Given the description of an element on the screen output the (x, y) to click on. 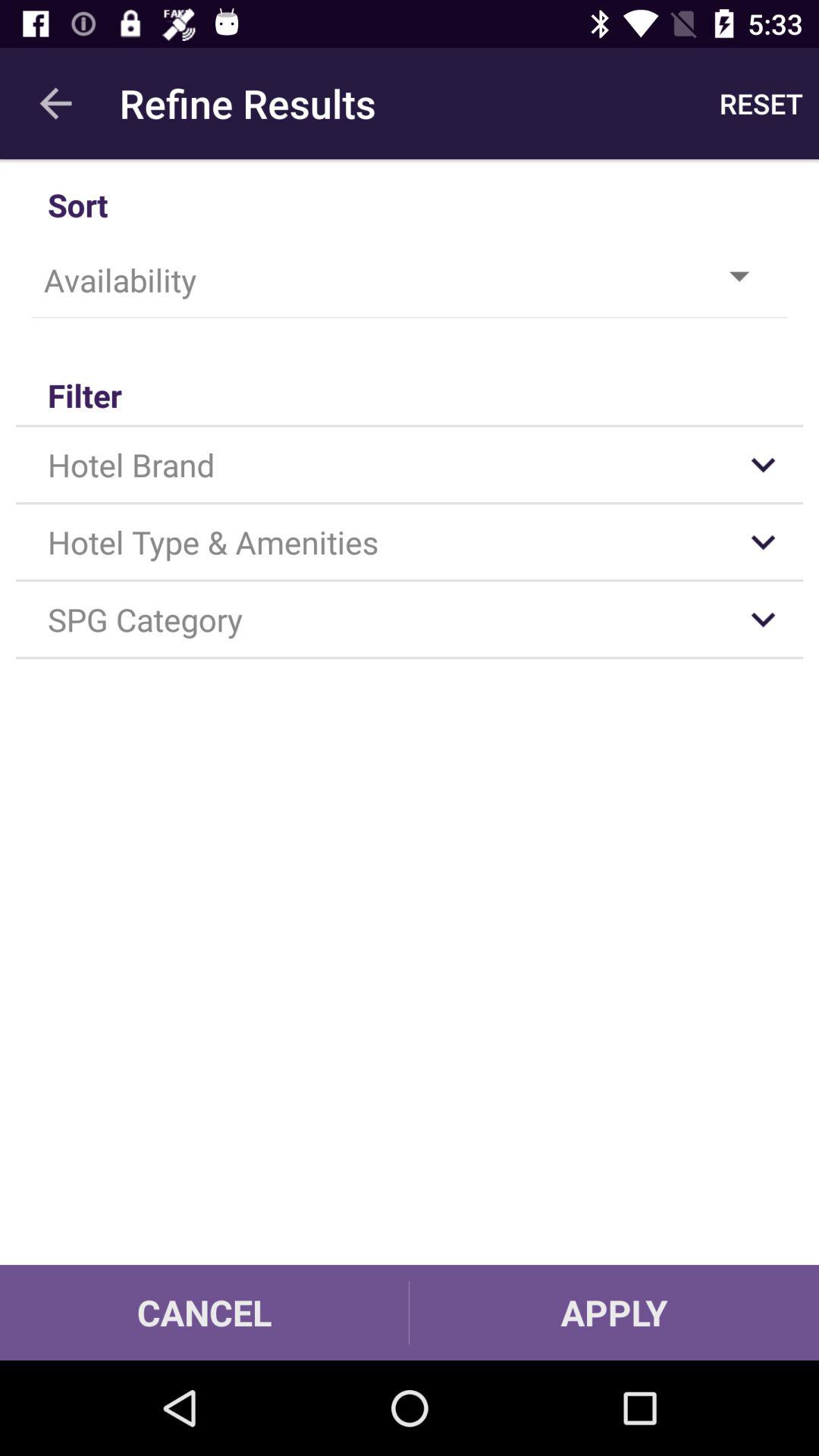
select app to the right of the refine results app (761, 103)
